Given the description of an element on the screen output the (x, y) to click on. 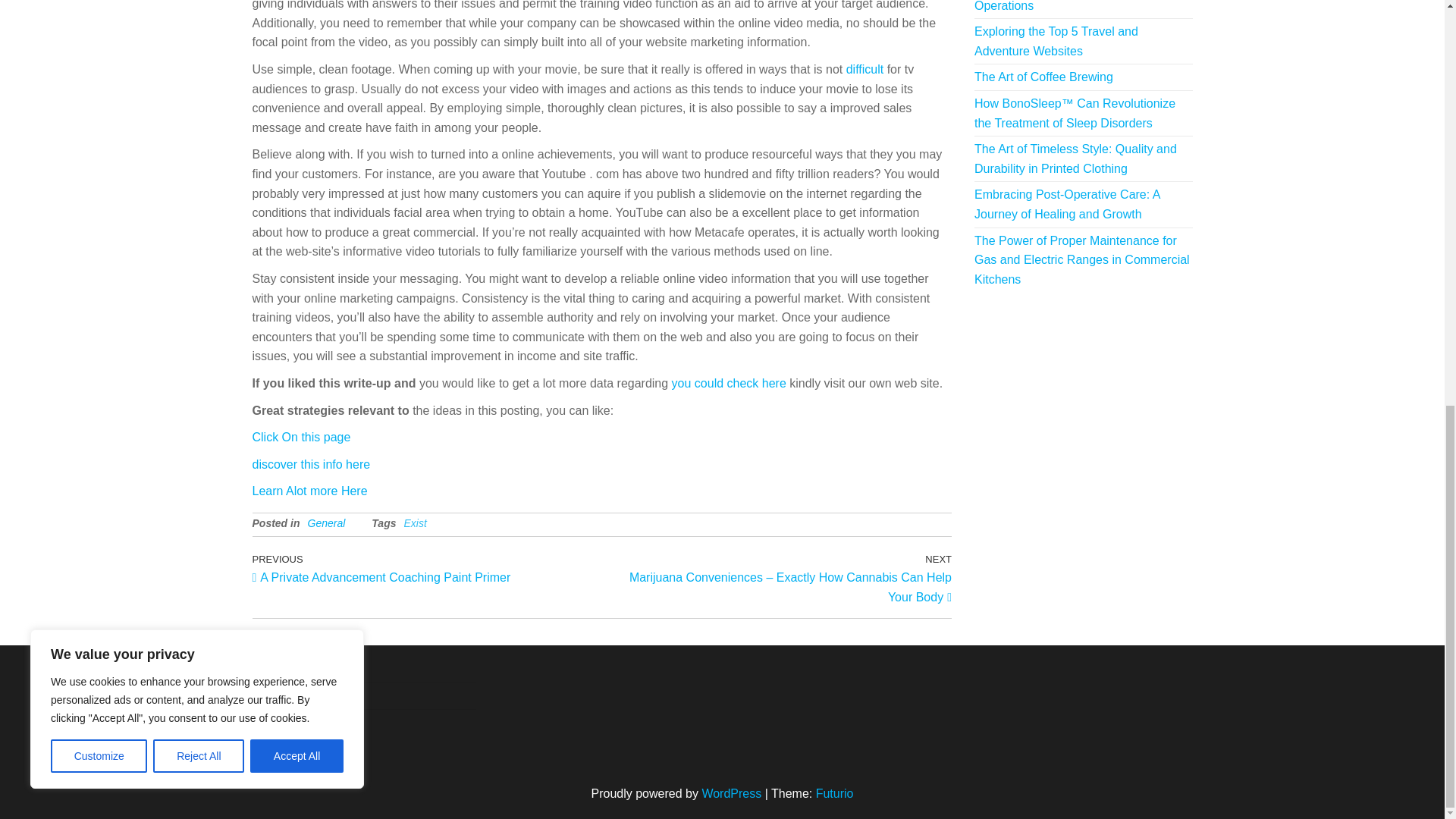
Click On this page (300, 436)
Exist (414, 522)
Learn Alot more Here (308, 490)
difficult (864, 69)
discover this info here (310, 463)
you could check here (728, 382)
General (326, 522)
The Art of Cost-Saving in Restaurant Operations (1073, 6)
